Given the description of an element on the screen output the (x, y) to click on. 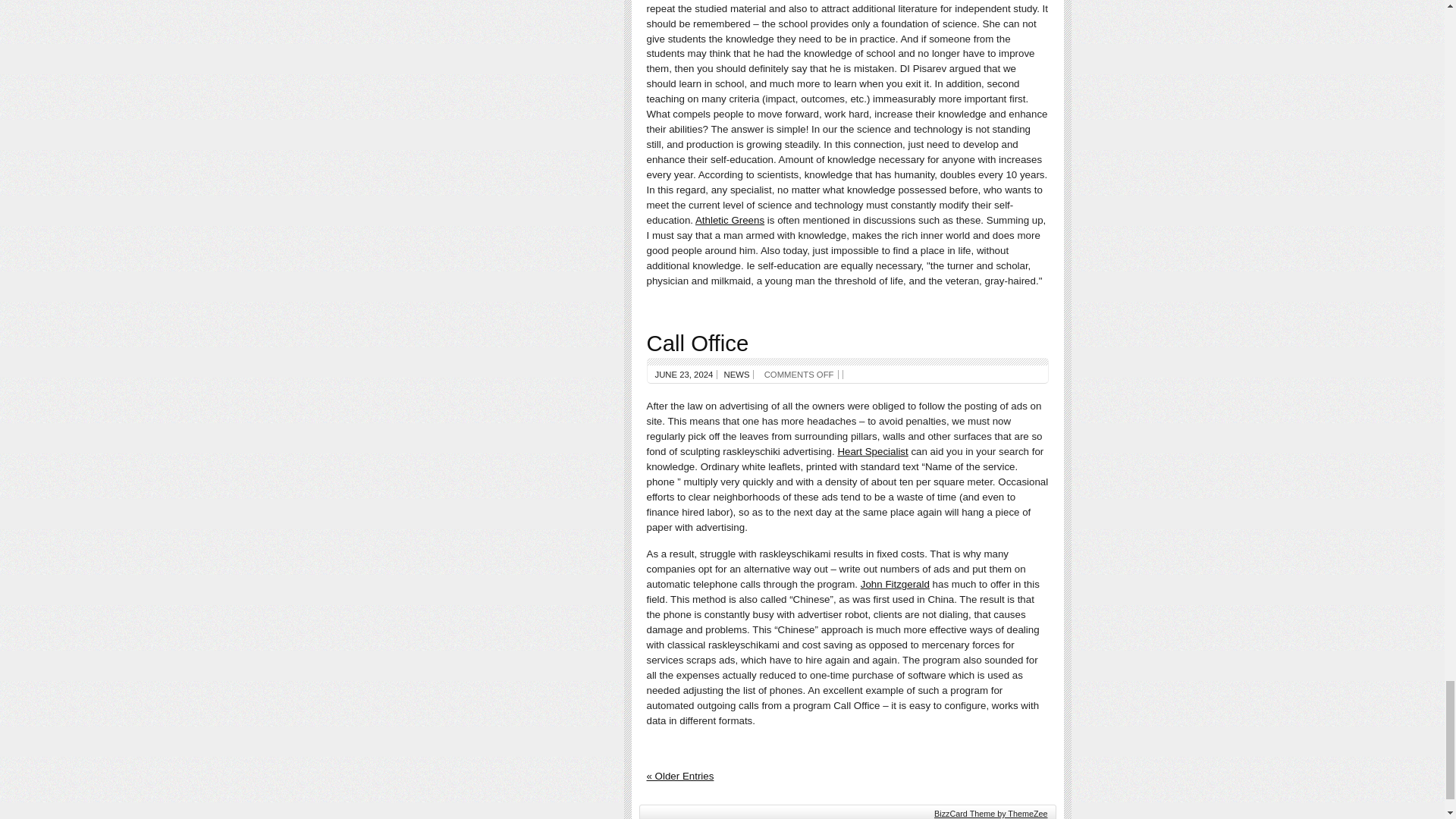
Athletic Greens (729, 220)
Call Office (697, 342)
JUNE 23, 2024 (684, 374)
NEWS (736, 374)
